Given the description of an element on the screen output the (x, y) to click on. 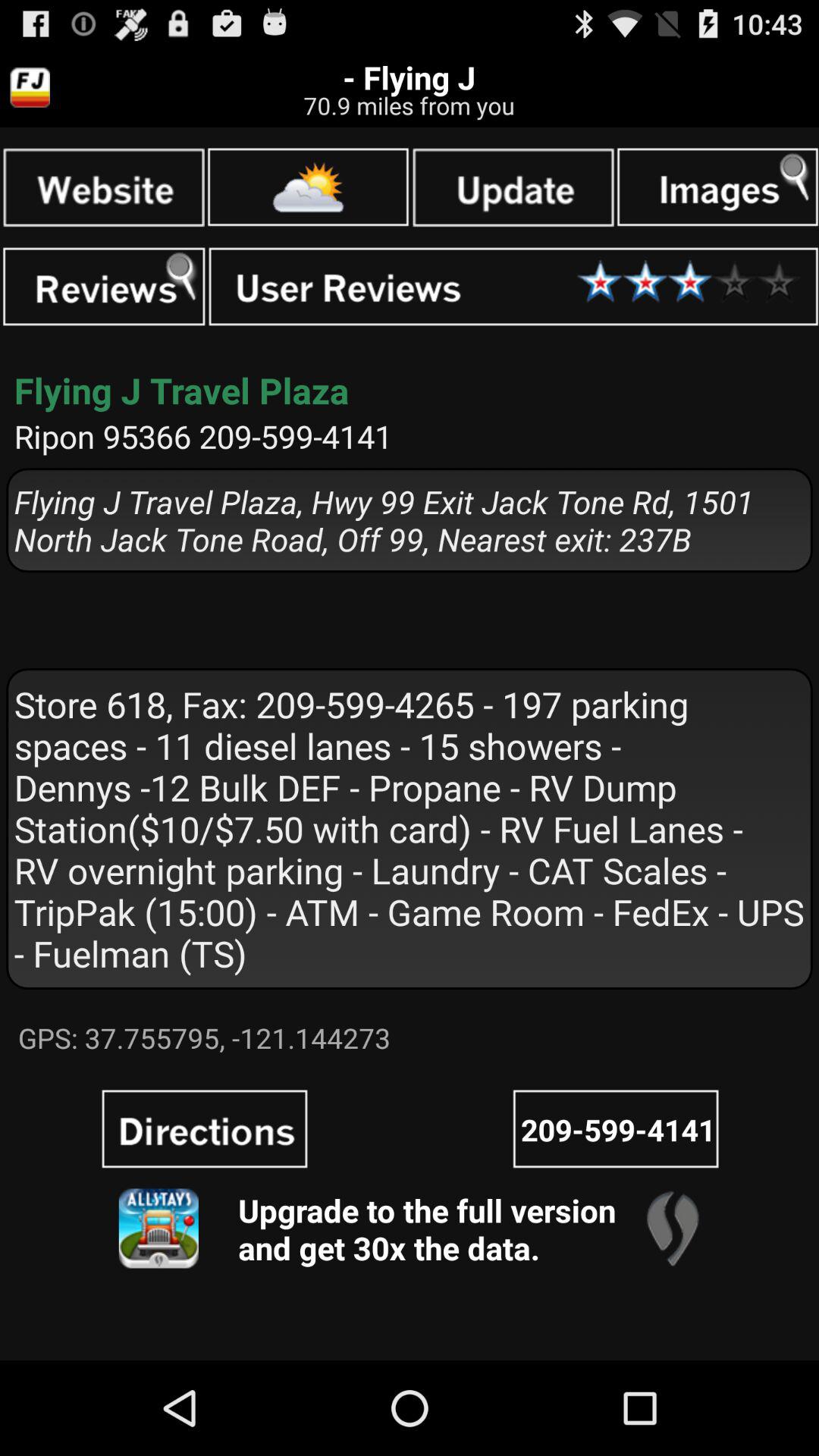
reviews (103, 286)
